Given the description of an element on the screen output the (x, y) to click on. 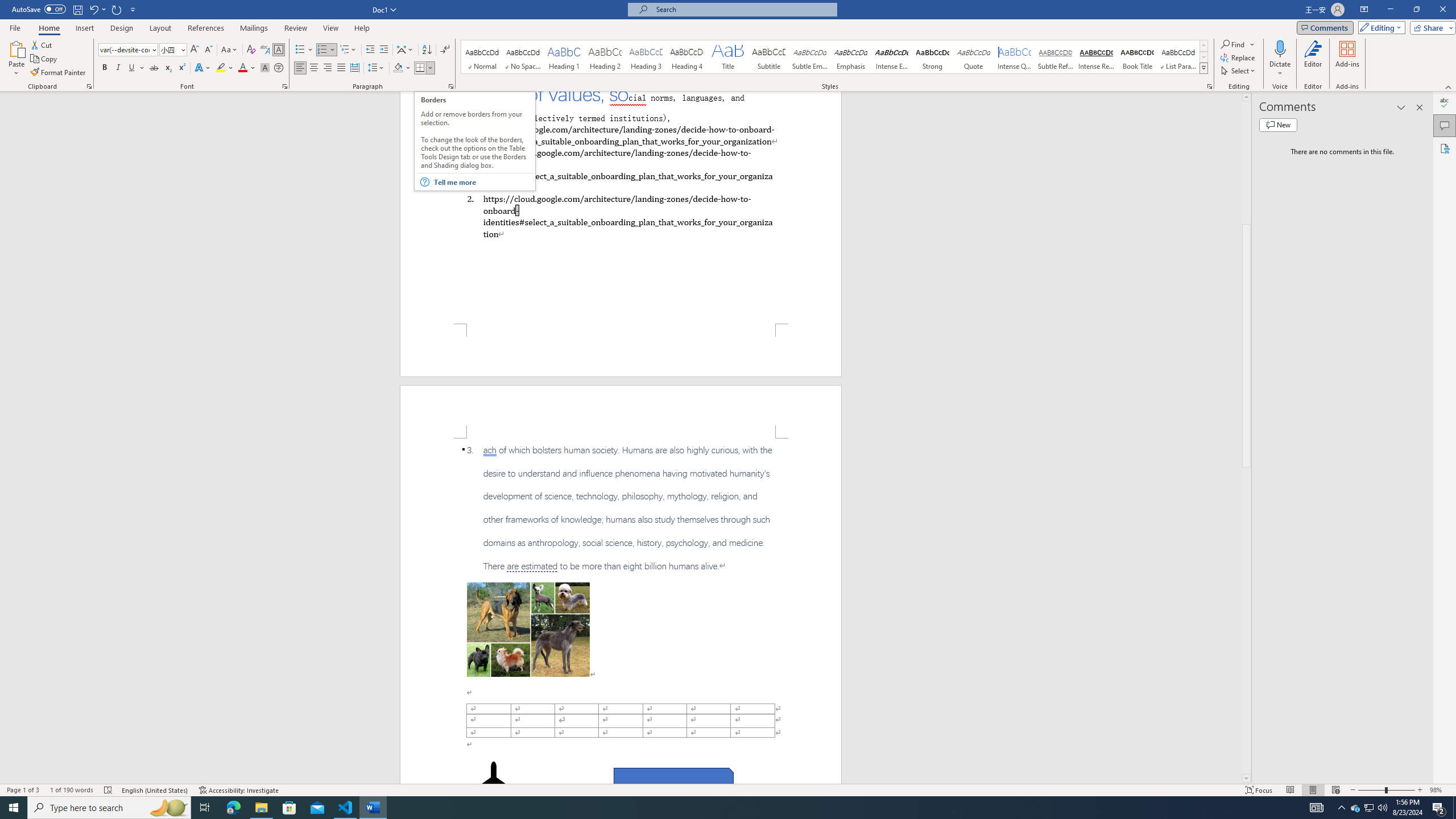
Accessibility (1444, 147)
Page 1 content (620, 207)
Title (727, 56)
